Given the description of an element on the screen output the (x, y) to click on. 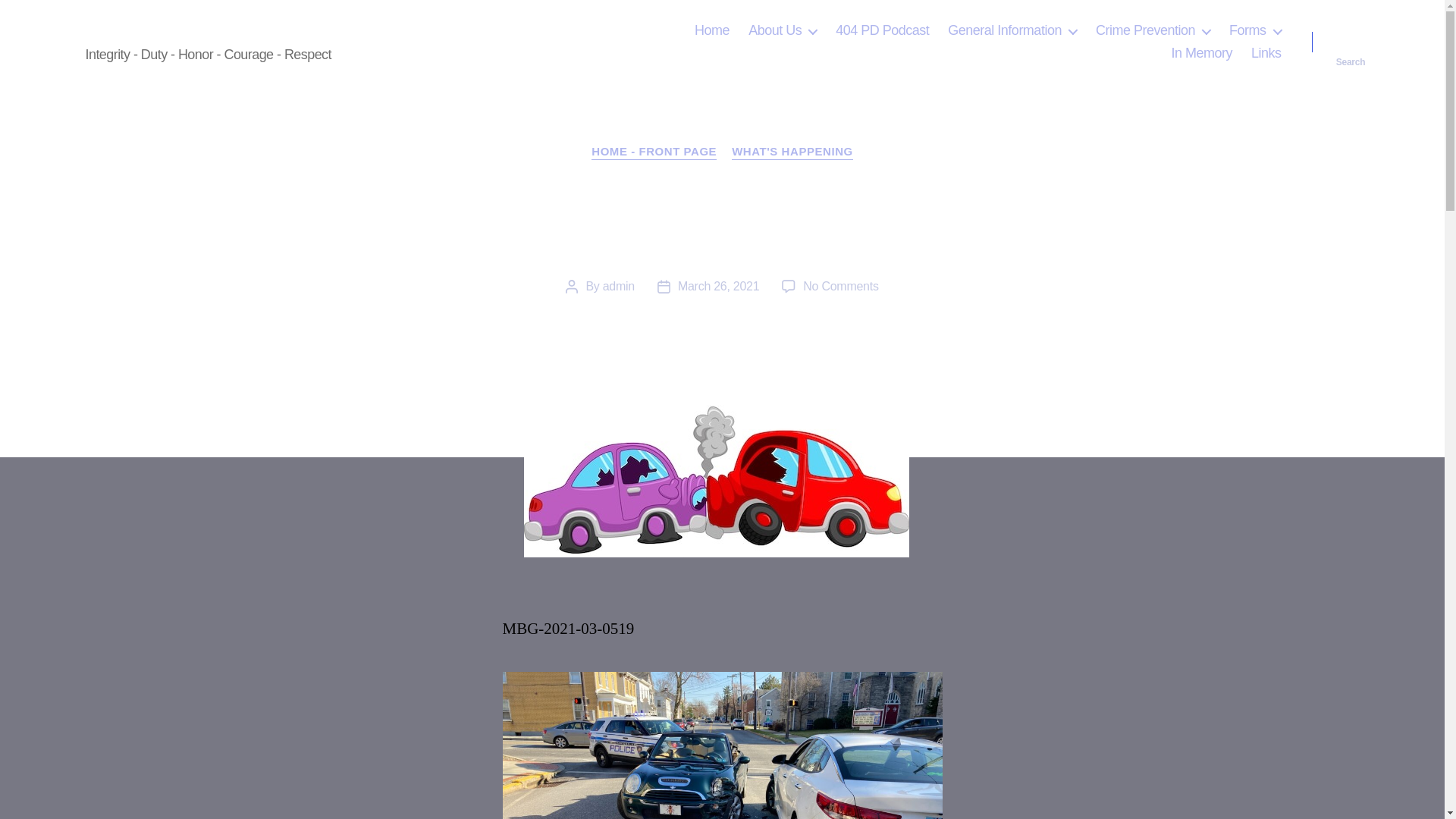
About Us (782, 30)
Crime Prevention (1152, 30)
Forms (1254, 30)
Search (1350, 41)
404 PD Podcast (881, 30)
Links (1265, 53)
In Memory (1200, 53)
Mechanicsburg Police Department (221, 30)
Home (711, 30)
General Information (1012, 30)
